Given the description of an element on the screen output the (x, y) to click on. 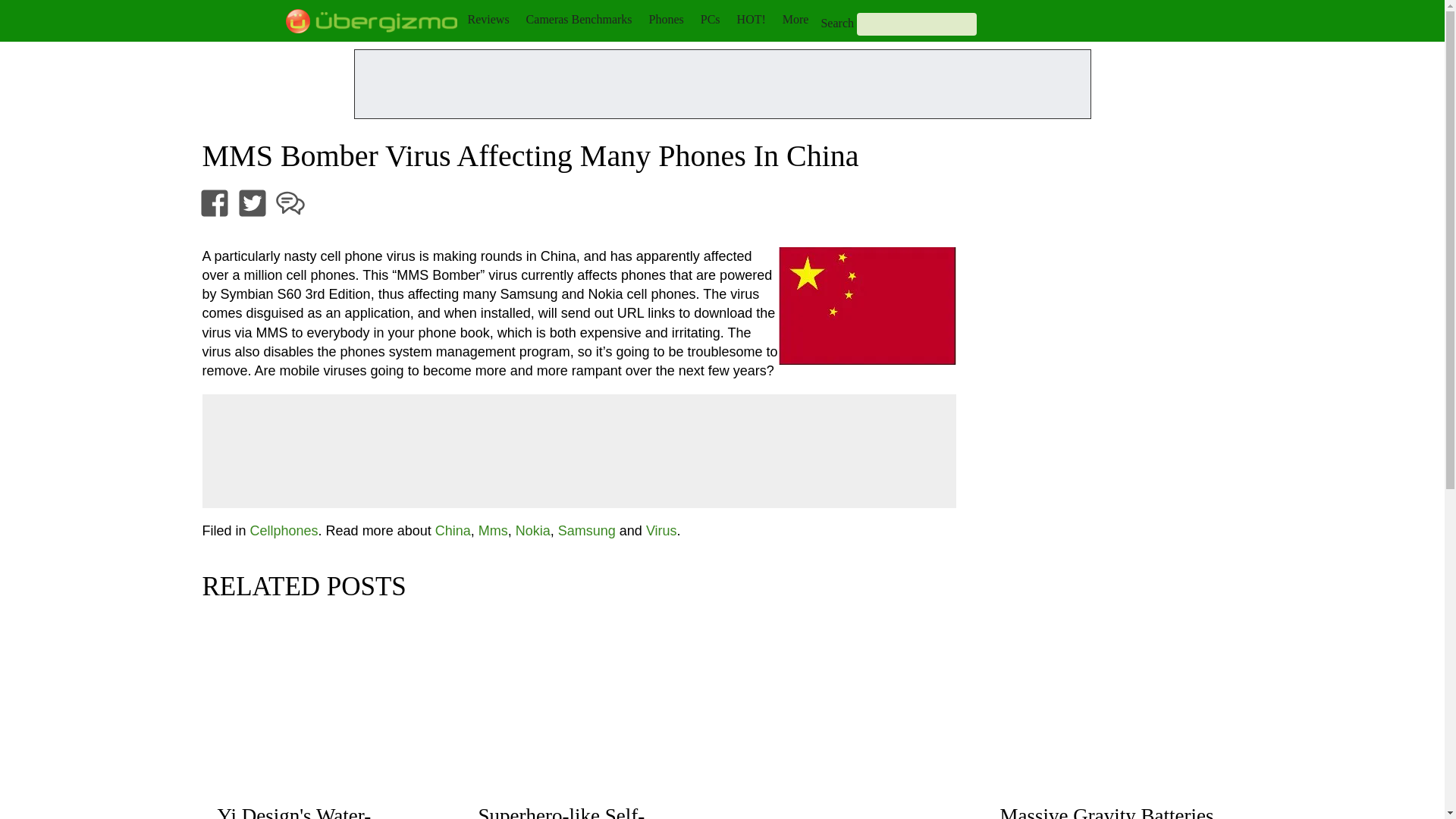
PCs (710, 19)
Cameras Benchmarks (578, 19)
Phones (666, 19)
Reviews (487, 19)
MMS Bomber Virus Affecting Many Phones In China (866, 305)
Yi Design (321, 811)
